Given the description of an element on the screen output the (x, y) to click on. 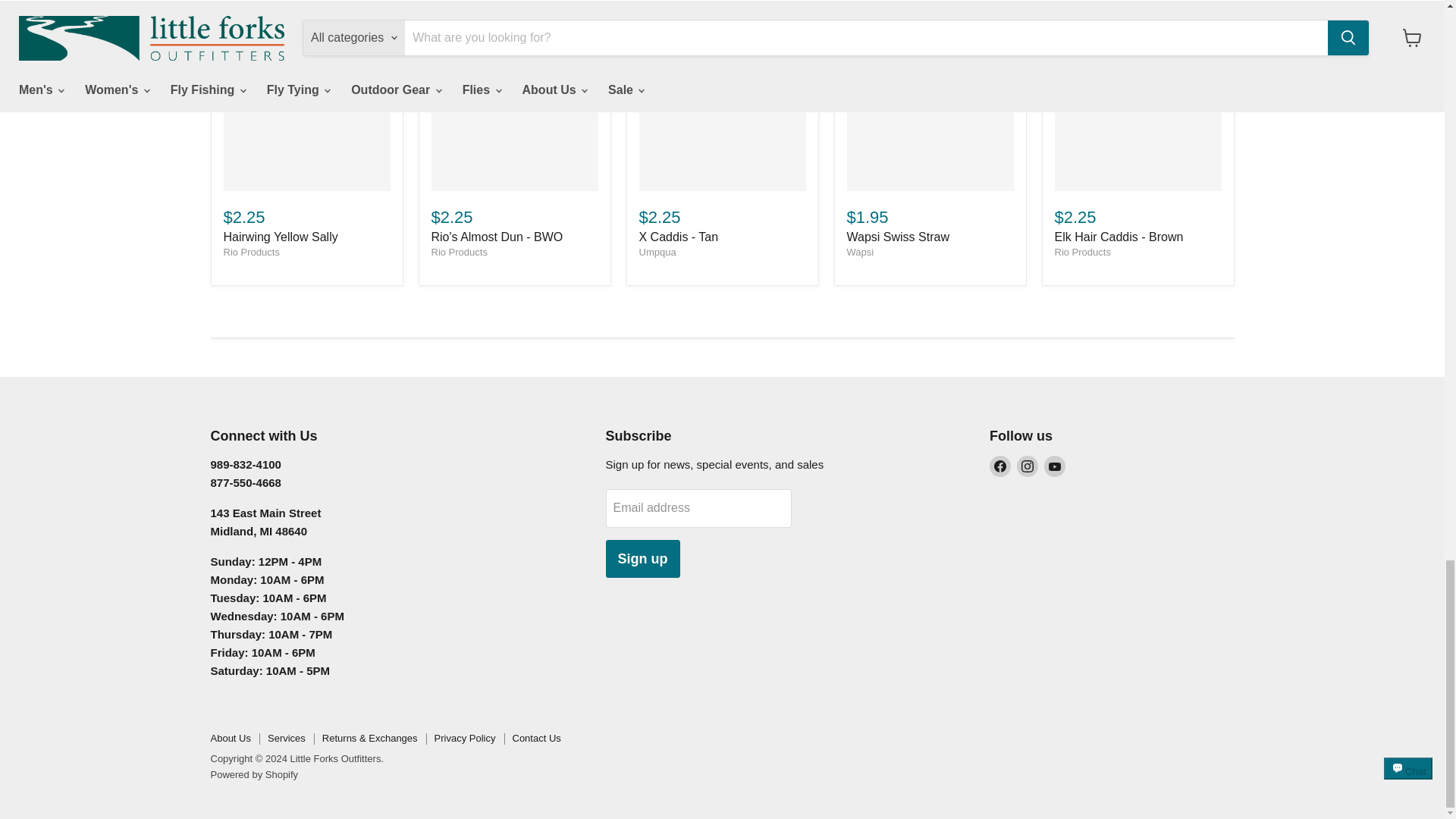
Rio Products (1081, 251)
YouTube (1054, 465)
Facebook (1000, 465)
Umpqua (657, 251)
Instagram (1027, 465)
Wapsi (859, 251)
Rio Products (250, 251)
Rio Products (458, 251)
